Given the description of an element on the screen output the (x, y) to click on. 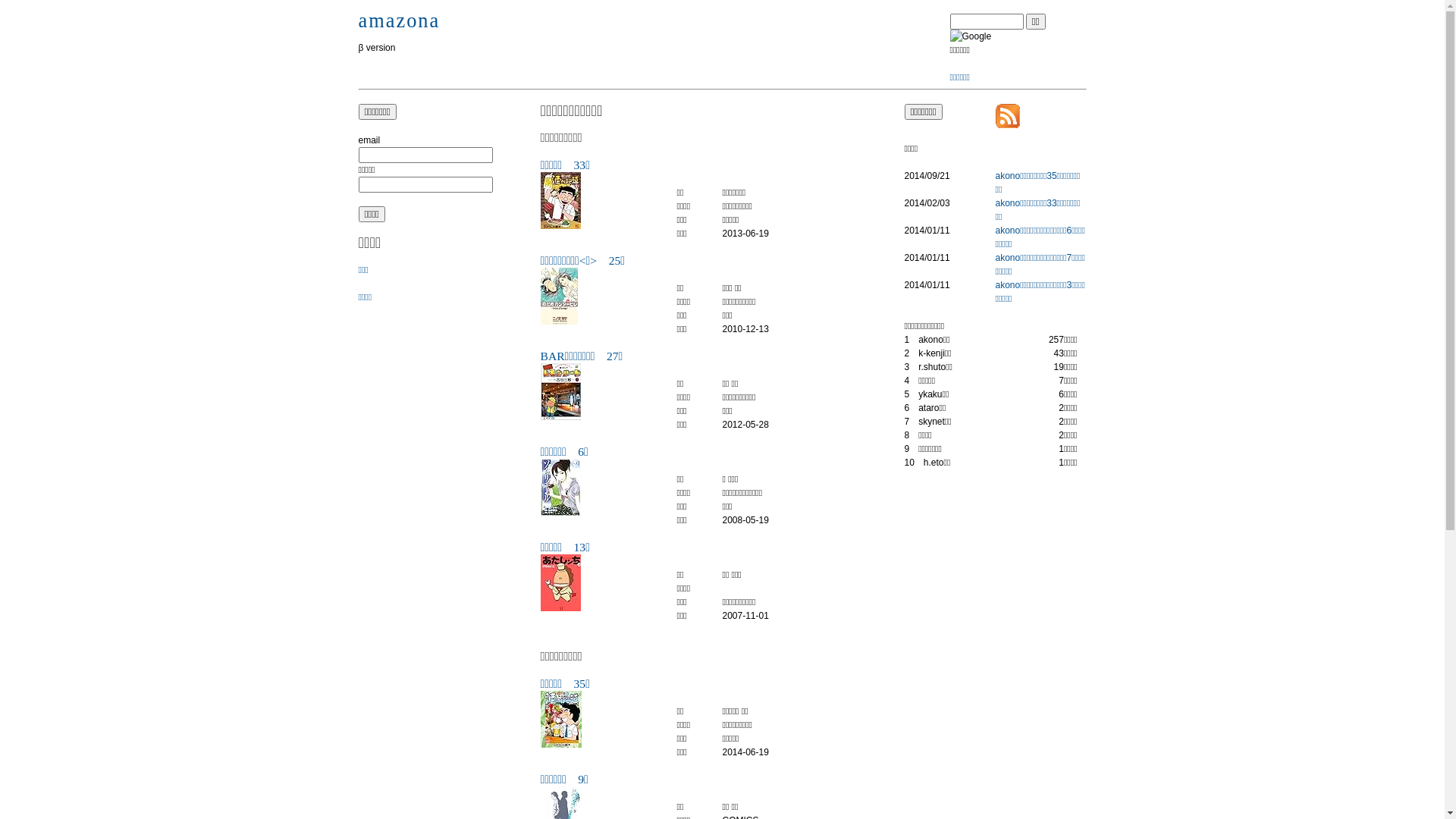
amazona Element type: text (398, 20)
